Given the description of an element on the screen output the (x, y) to click on. 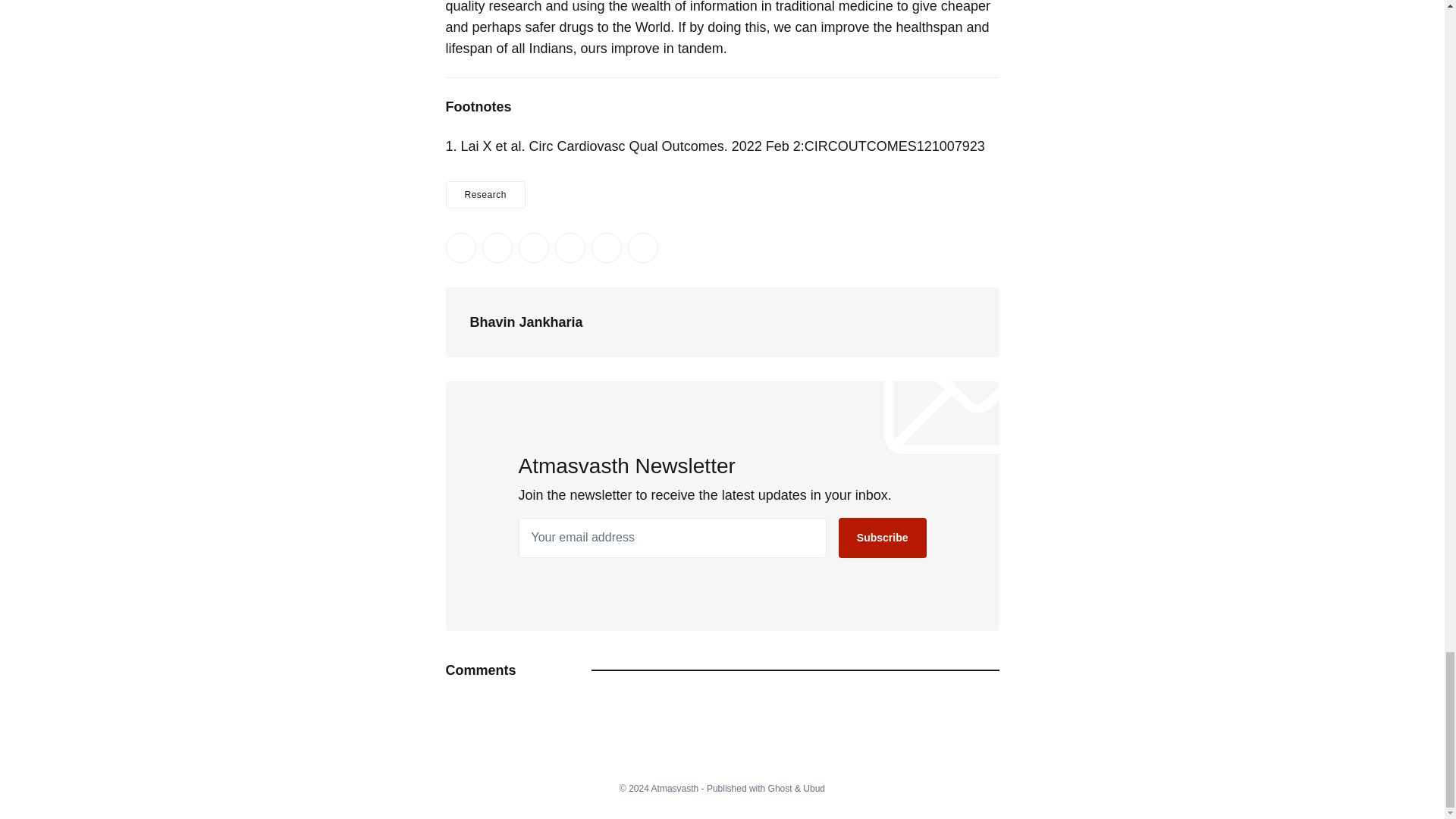
Copy link (642, 247)
Research (485, 194)
Share on LinkedIn (533, 247)
Share on Pinterest (569, 247)
Share on Twitter (460, 247)
Bhavin Jankharia (526, 322)
Share on Facebook (496, 247)
Ubud (814, 787)
Ghost (780, 787)
Share via Email (606, 247)
